Given the description of an element on the screen output the (x, y) to click on. 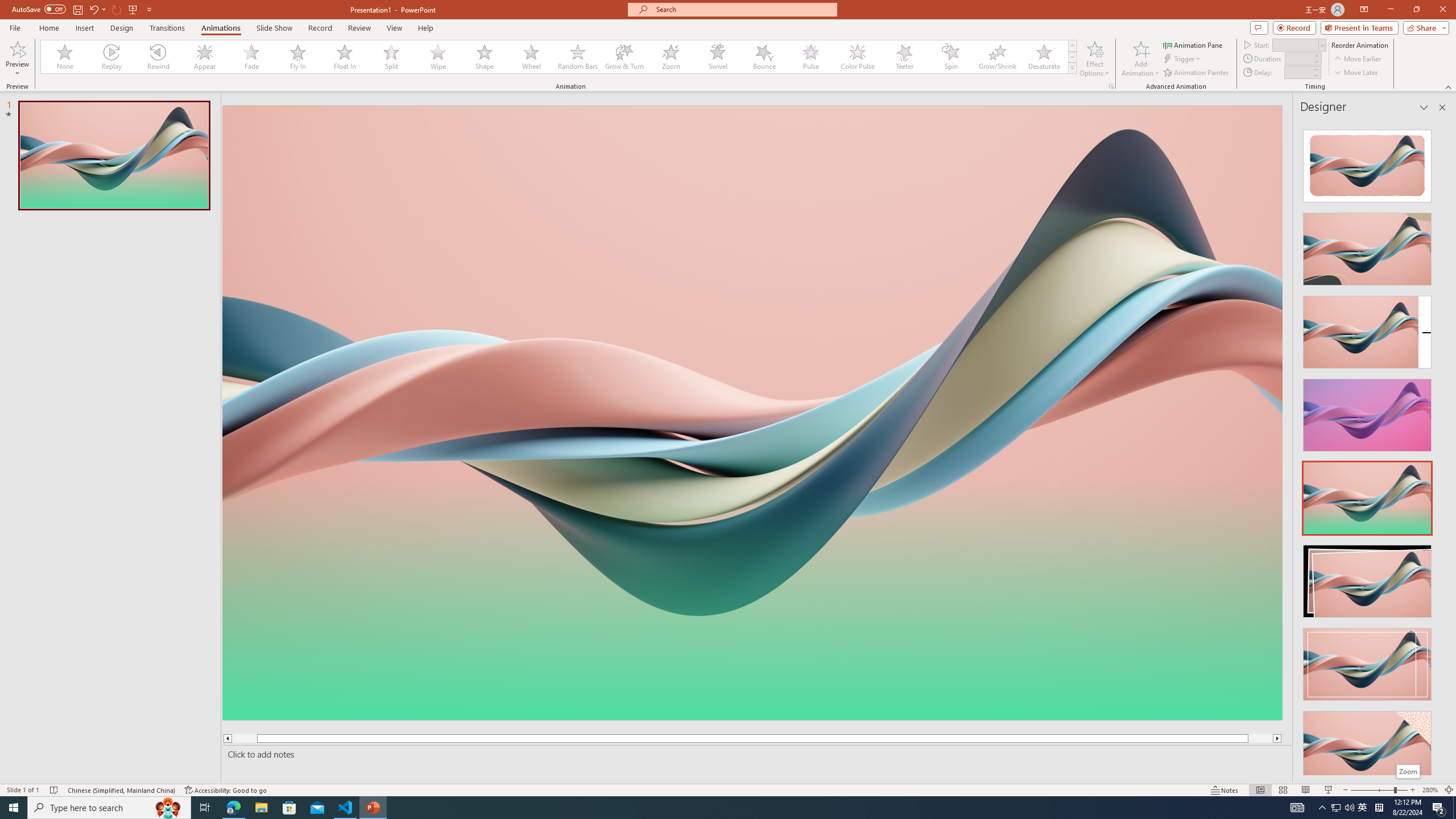
Shape (484, 56)
None (65, 56)
Appear (205, 56)
Desaturate (1043, 56)
Animation Pane (1193, 44)
